Given the description of an element on the screen output the (x, y) to click on. 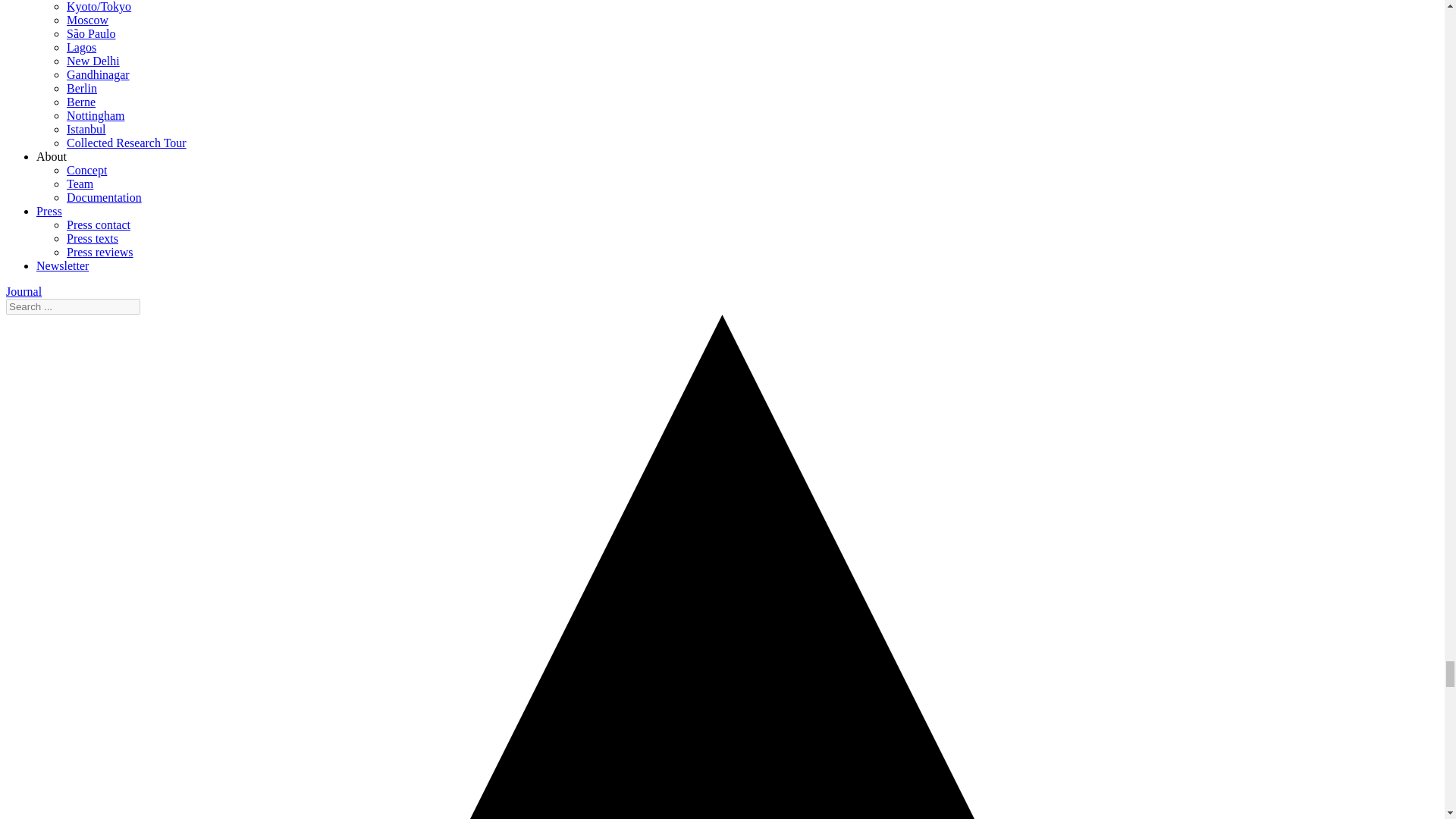
Press reviews (99, 251)
Gandhinagar (97, 74)
Press contact (98, 224)
Moscow (86, 19)
Press texts (91, 237)
Lagos (81, 47)
Collected Research Tour (126, 142)
Berne (81, 101)
Press (49, 210)
Journal (23, 291)
Documentation (103, 196)
Team (79, 183)
Nottingham (94, 115)
New Delhi (92, 60)
Newsletter (62, 265)
